Given the description of an element on the screen output the (x, y) to click on. 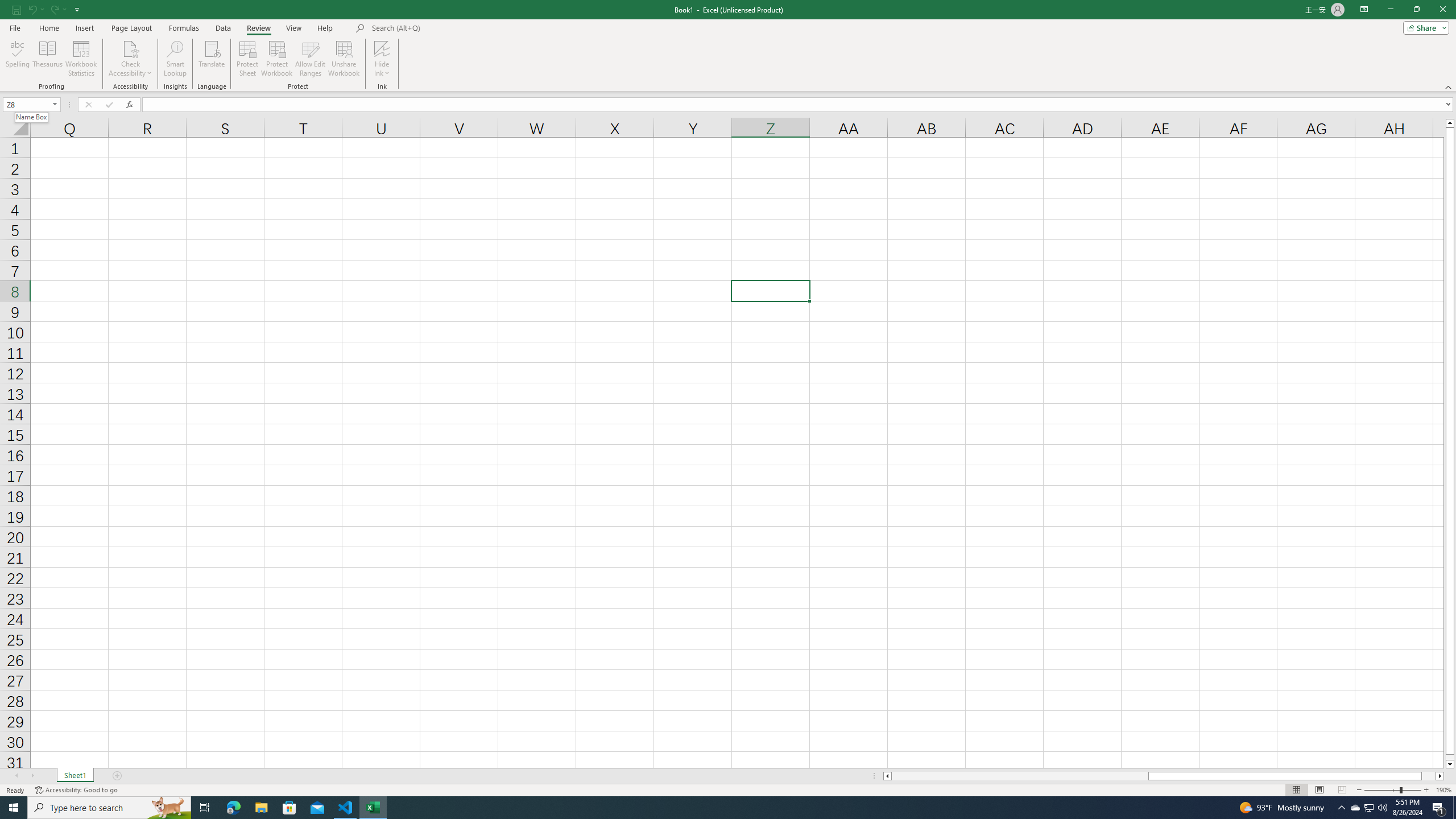
Protect Workbook... (277, 58)
Thesaurus... (47, 58)
Workbook Statistics (81, 58)
Check Accessibility (129, 48)
